Given the description of an element on the screen output the (x, y) to click on. 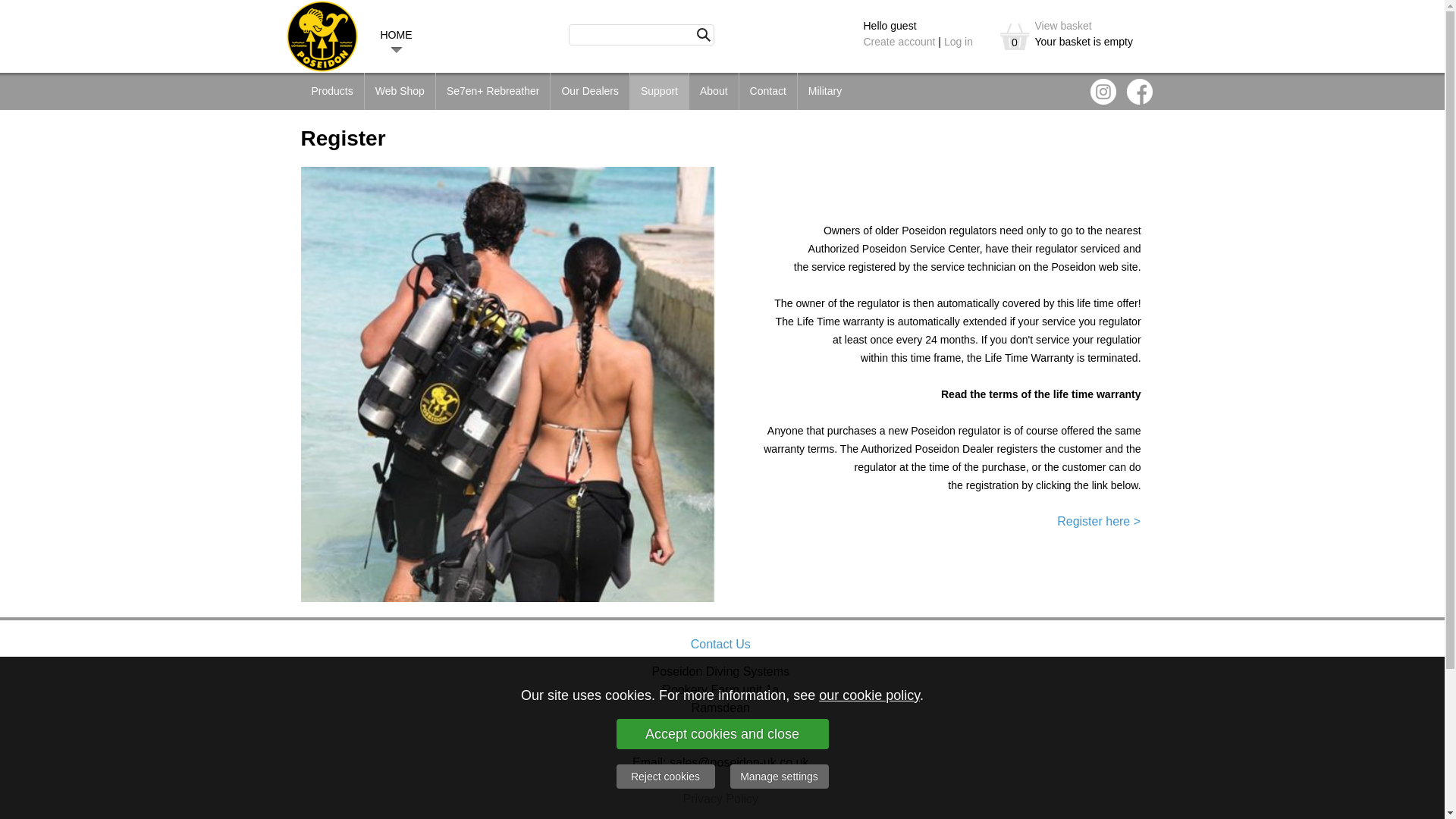
View basket (1061, 25)
HOME (396, 33)
Products (330, 90)
Log in (957, 41)
0 (1013, 36)
About (713, 90)
Web Shop (400, 90)
Our Dealers (589, 90)
Create account (898, 41)
Support (659, 90)
